Given the description of an element on the screen output the (x, y) to click on. 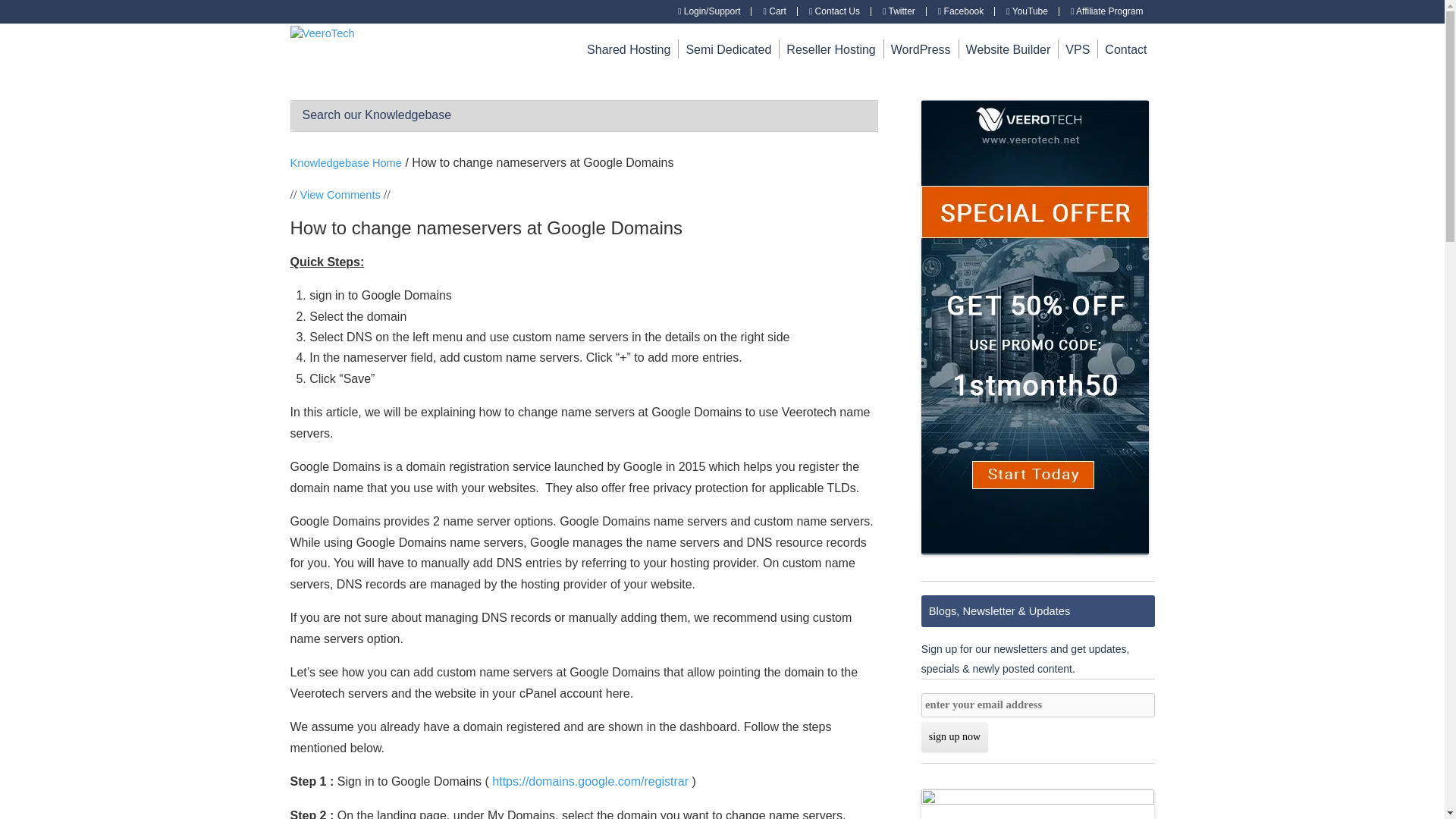
Contact Us (834, 10)
Knowledgebase Home (345, 162)
Reseller Hosting (830, 49)
Contact (1126, 49)
Affiliate Program (1106, 10)
sign up now (954, 736)
YouTube (1027, 10)
View Comments (339, 194)
VPS (1077, 49)
Cart (774, 10)
